Given the description of an element on the screen output the (x, y) to click on. 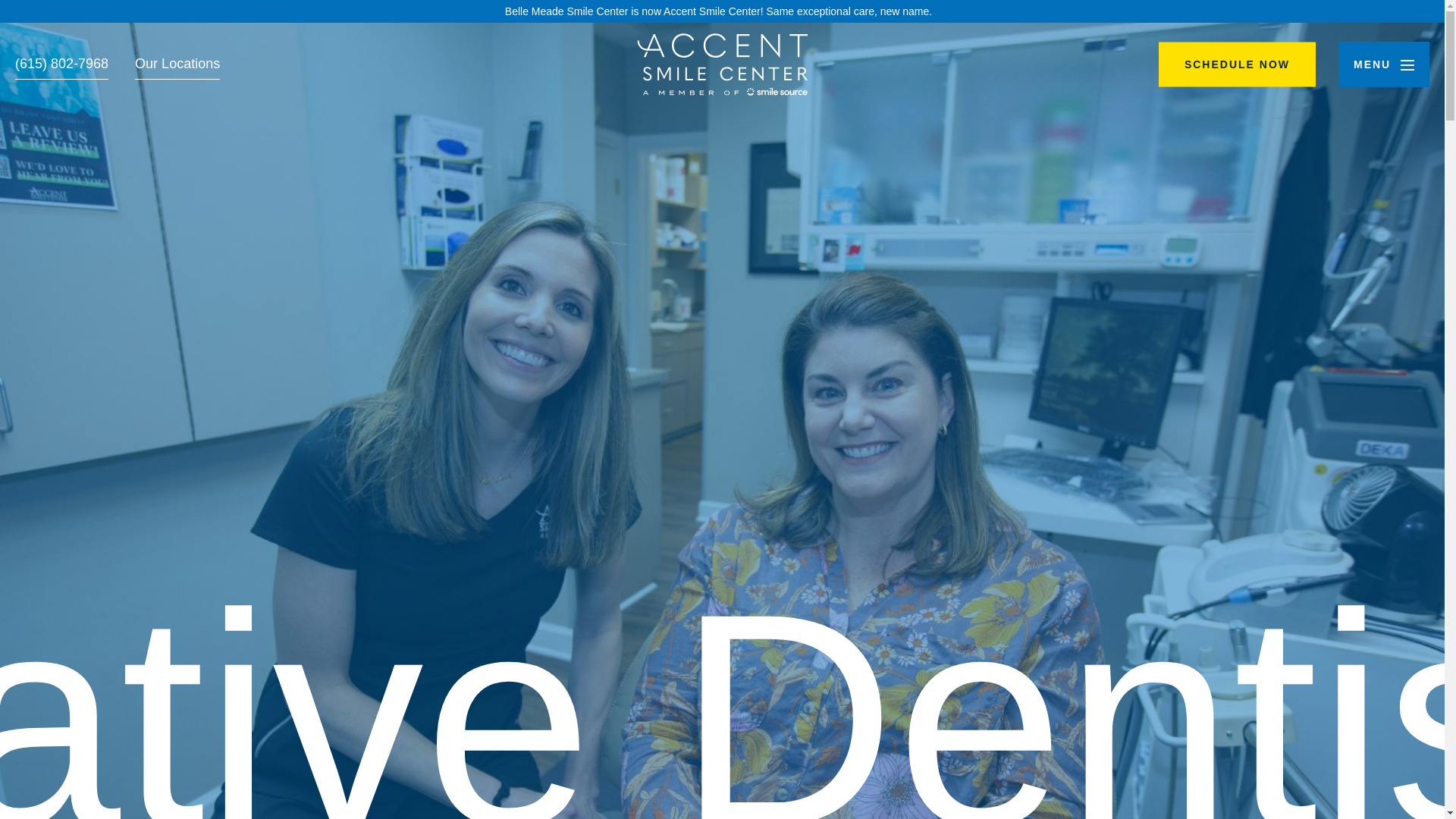
SCHEDULE NOW (1237, 64)
MENU (1383, 63)
